Given the description of an element on the screen output the (x, y) to click on. 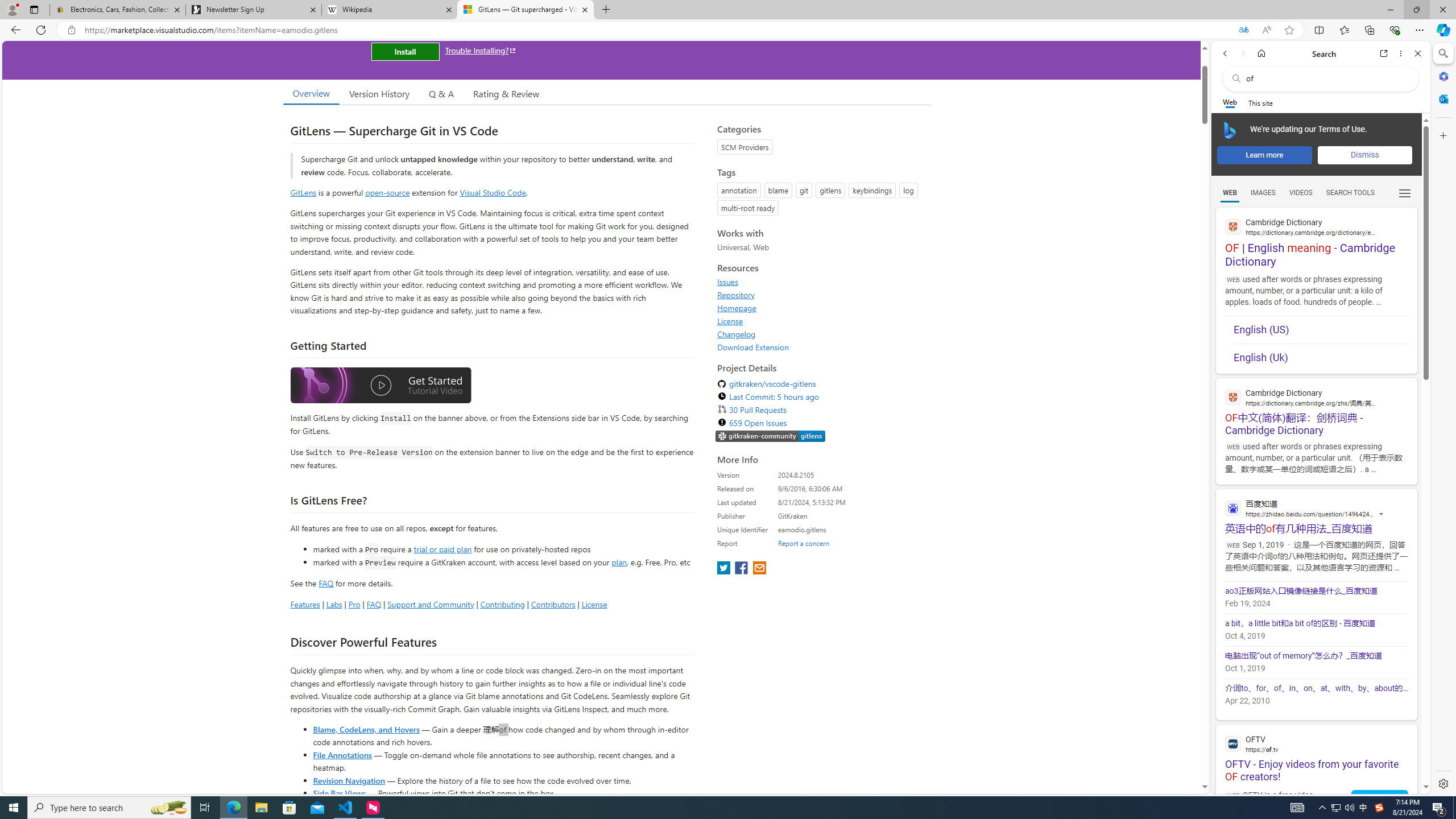
share extension on facebook (742, 568)
Watch the GitLens Getting Started video (380, 387)
License (820, 320)
share extension on twitter (724, 568)
